Given the description of an element on the screen output the (x, y) to click on. 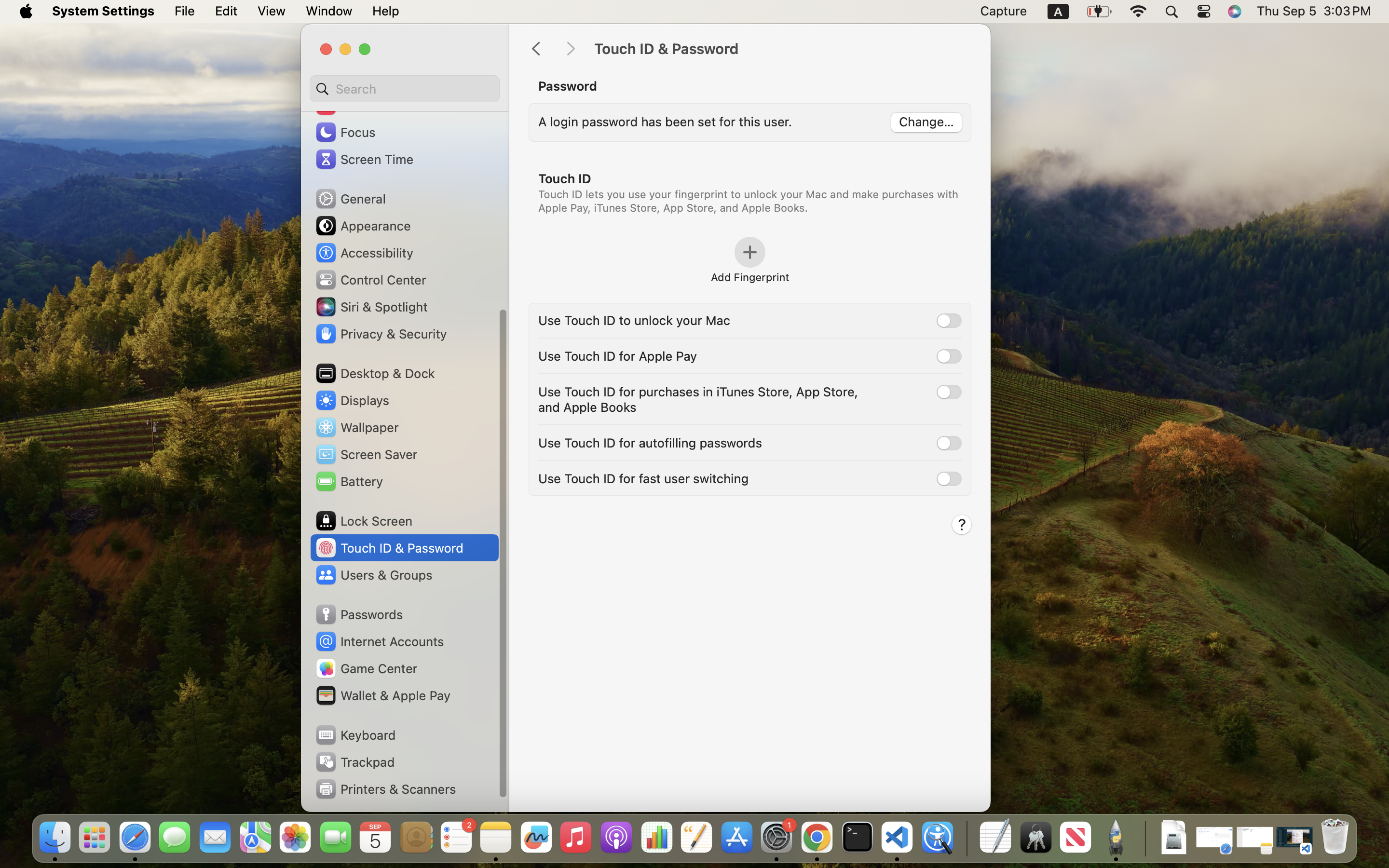
Users & Groups Element type: AXStaticText (373, 574)
Desktop & Dock Element type: AXStaticText (374, 372)
Passwords Element type: AXStaticText (358, 613)
Use Touch ID to unlock your Mac Element type: AXStaticText (634, 319)
Touch ID & Password Element type: AXStaticText (782, 49)
